Given the description of an element on the screen output the (x, y) to click on. 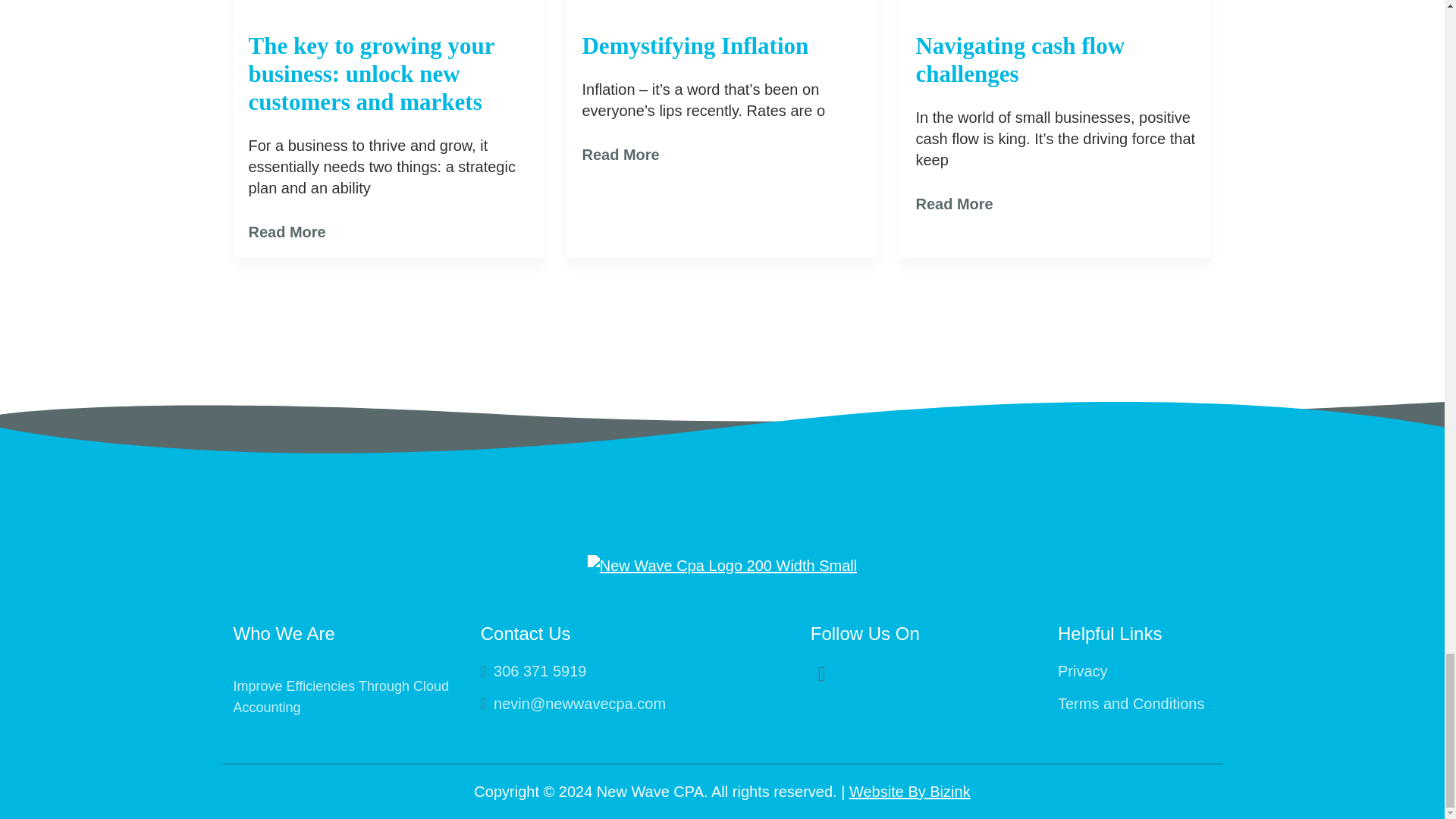
Read More (287, 231)
Demystifying Inflation (694, 48)
